Given the description of an element on the screen output the (x, y) to click on. 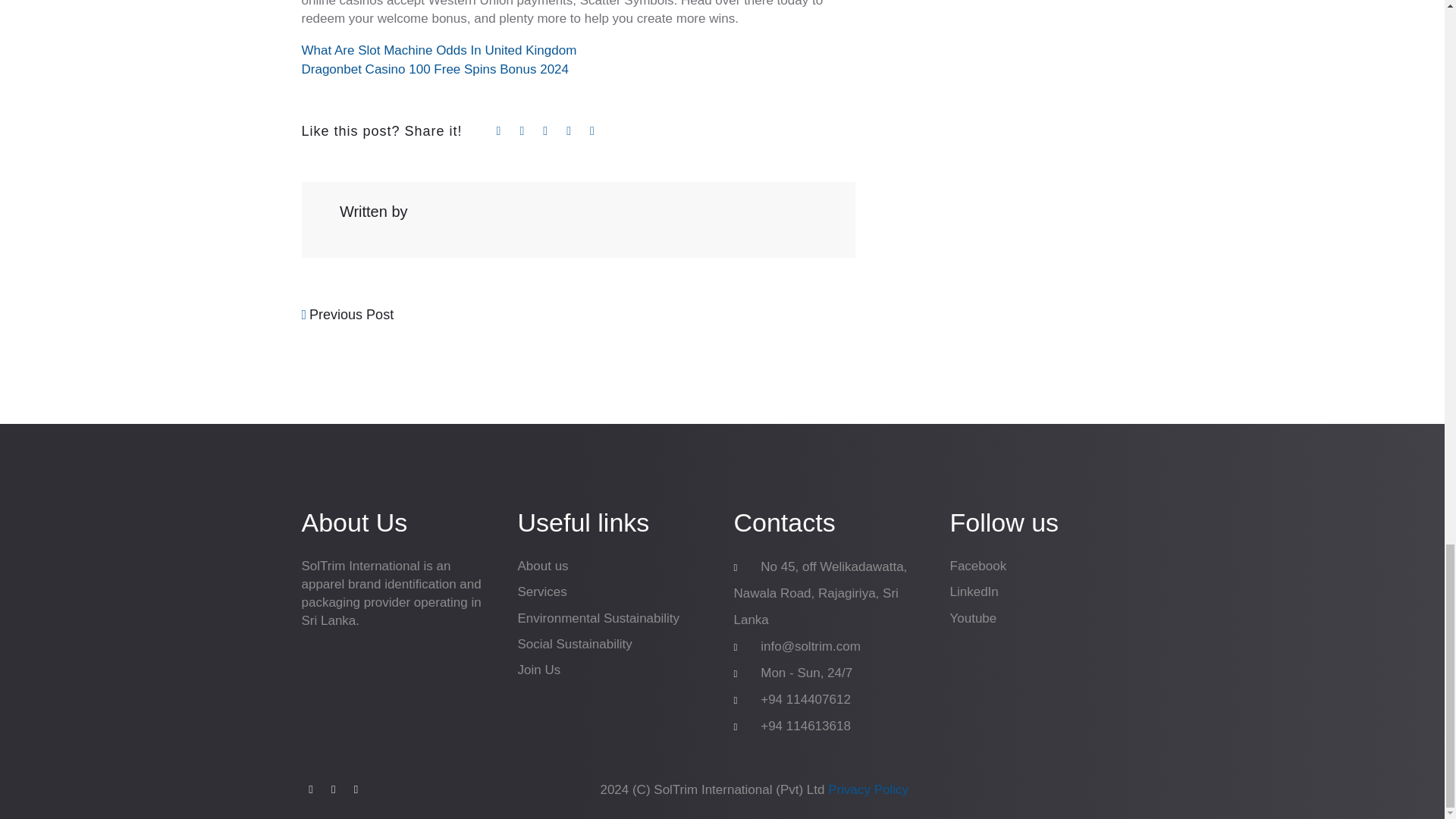
Previous Post (347, 314)
Dragonbet Casino 100 Free Spins Bonus 2024 (435, 69)
What Are Slot Machine Odds In United Kingdom (438, 50)
